Given the description of an element on the screen output the (x, y) to click on. 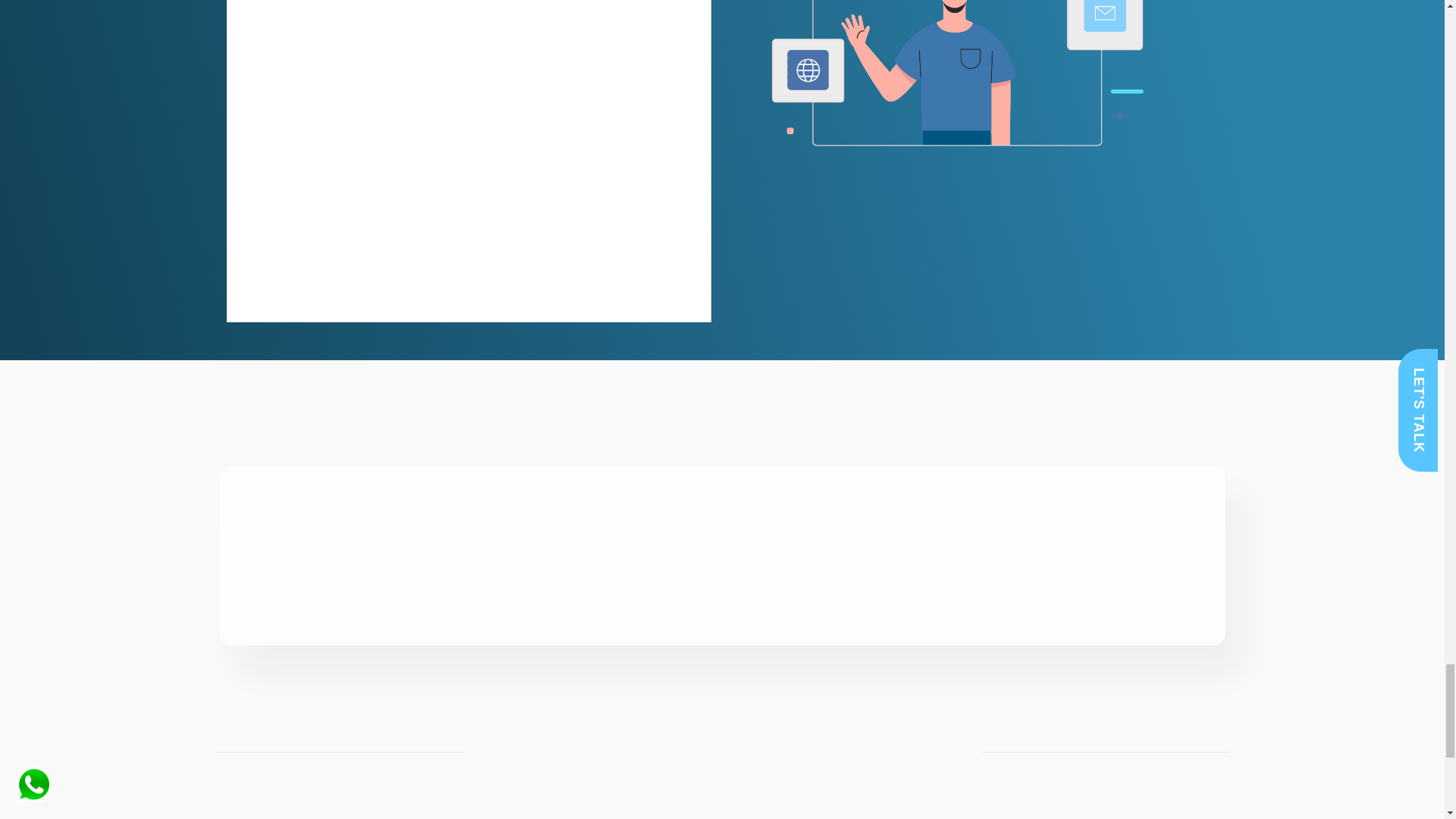
footer-form (467, 143)
